Given the description of an element on the screen output the (x, y) to click on. 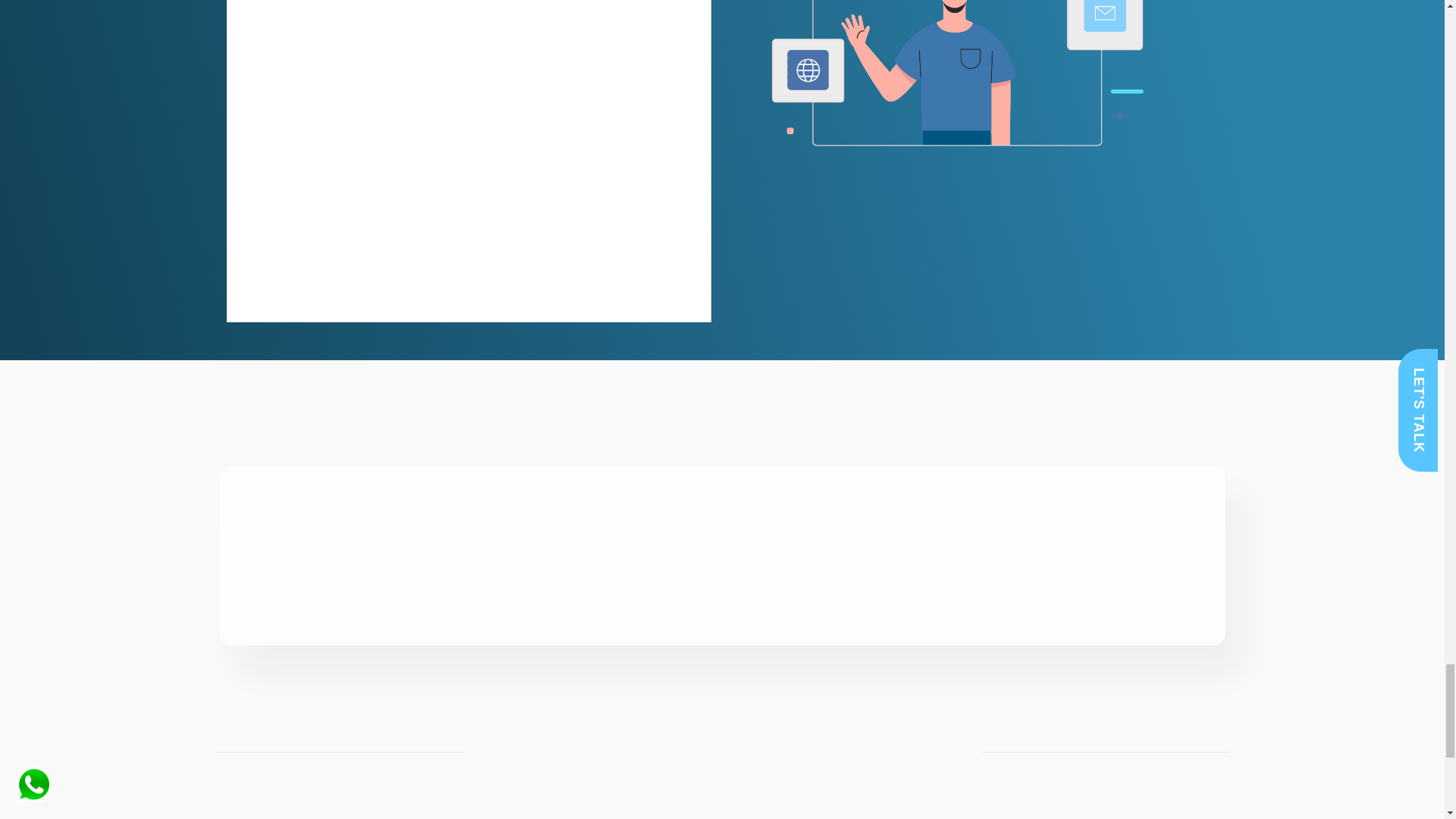
footer-form (467, 143)
